Given the description of an element on the screen output the (x, y) to click on. 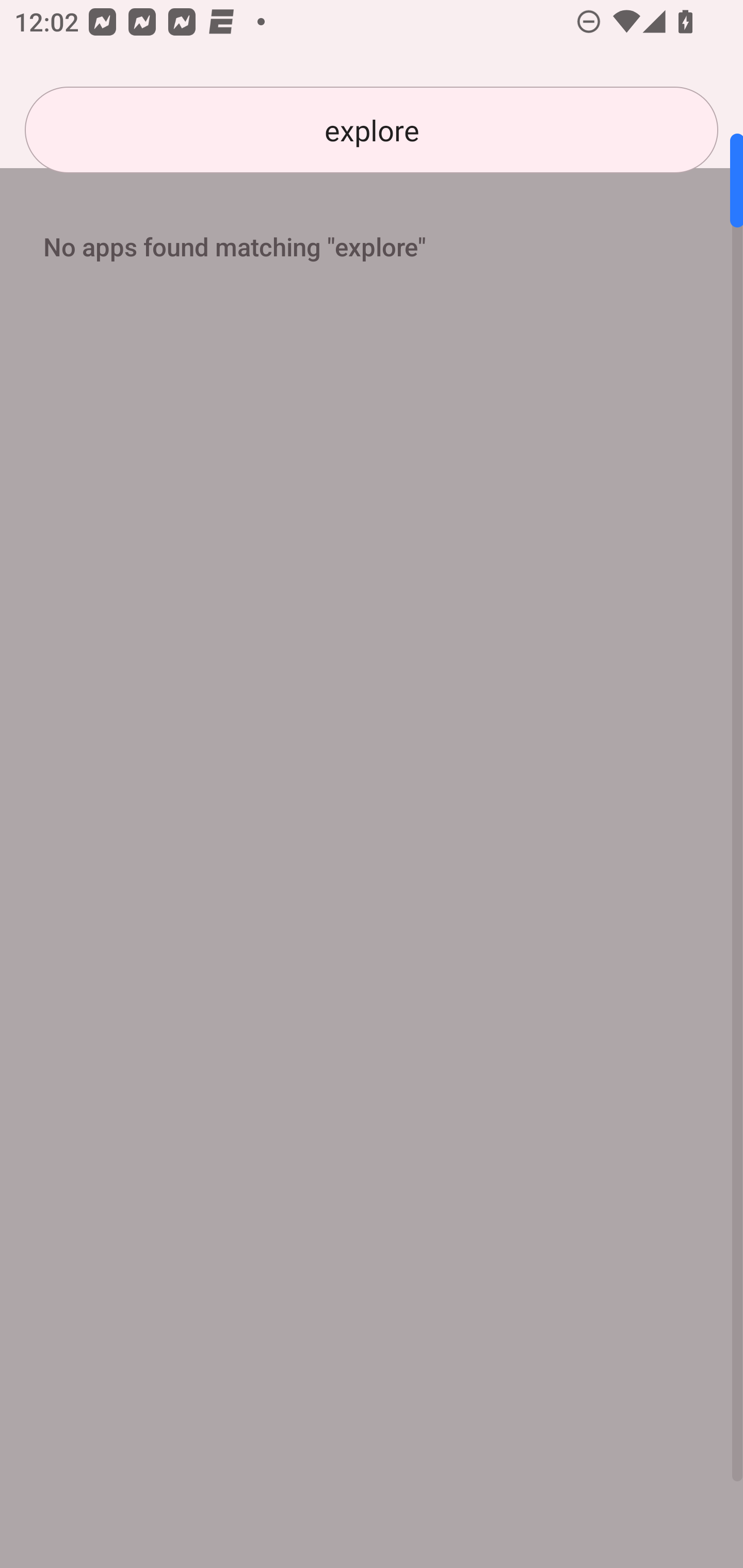
explore (371, 130)
